Given the description of an element on the screen output the (x, y) to click on. 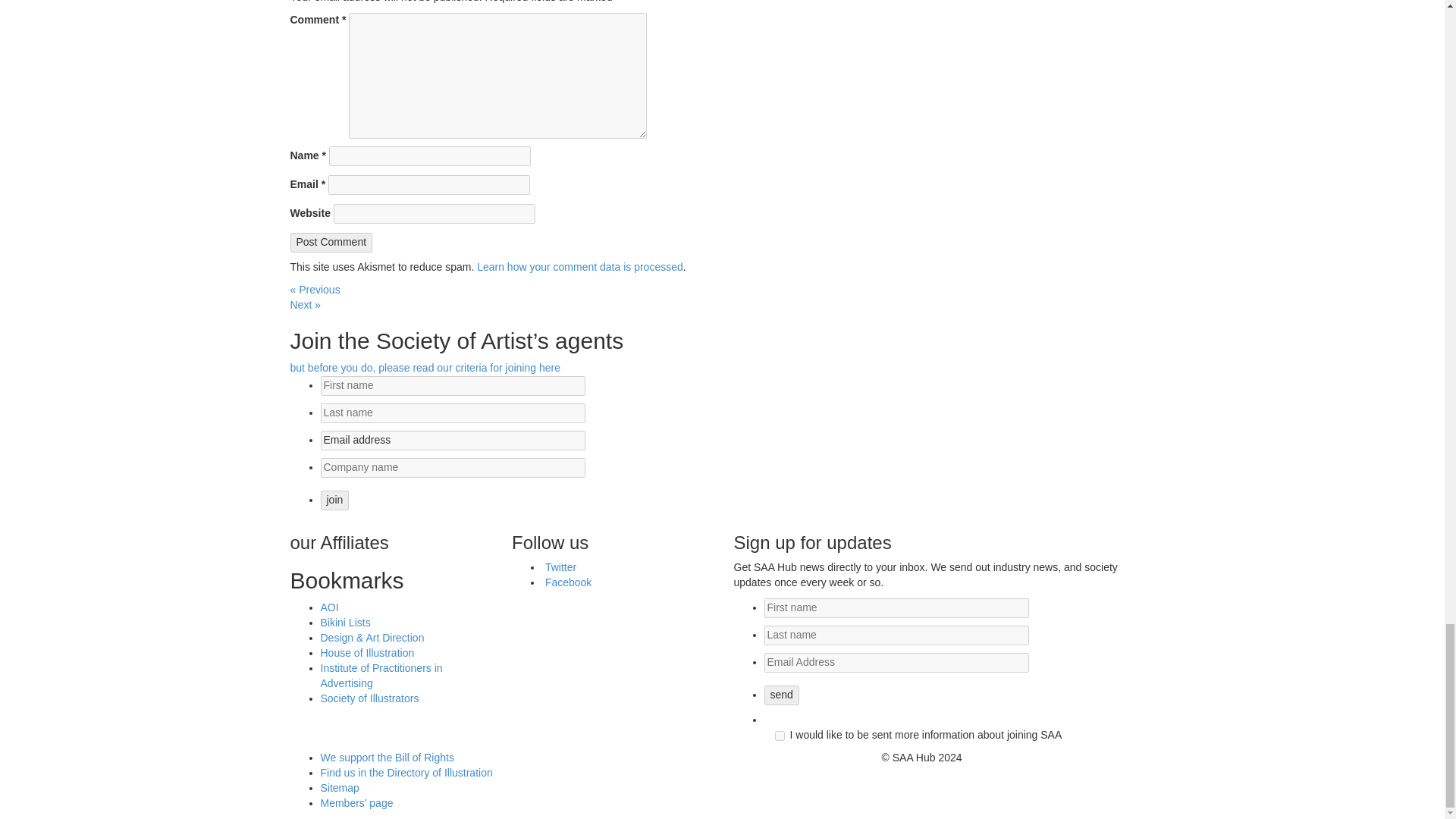
Email address (452, 440)
join (334, 500)
I would like to be sent more information about joining SAA (779, 736)
Learn how your comment data is processed (579, 266)
Post Comment (330, 242)
Post Comment (330, 242)
send (781, 695)
